Given the description of an element on the screen output the (x, y) to click on. 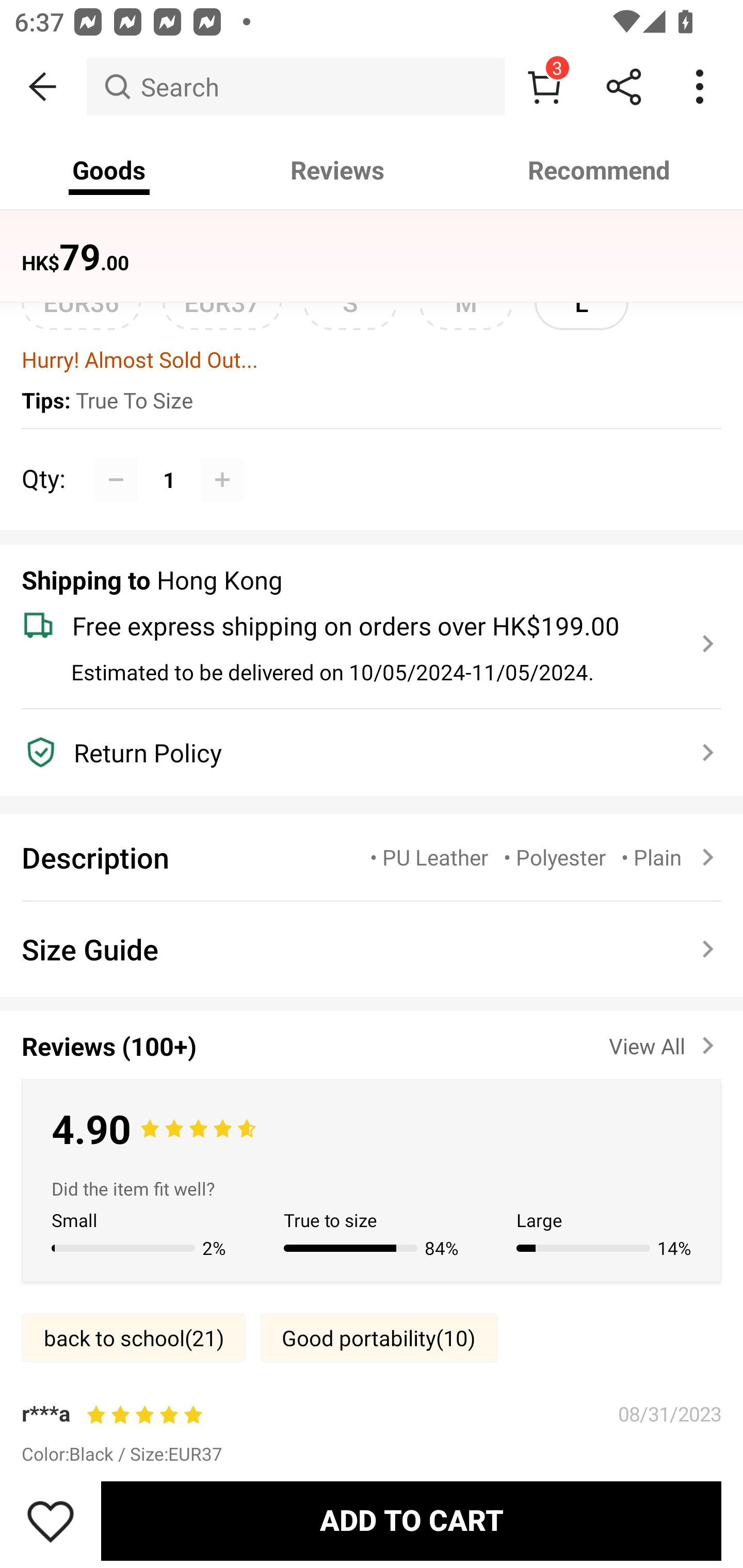
BACK (43, 86)
3 (543, 87)
Search (295, 87)
Goods (109, 170)
Reviews (337, 170)
Recommend (599, 170)
Hurry! Almost Sold Out... (371, 358)
Tips: True To Size (371, 400)
Qty: 1 (371, 457)
Return Policy (359, 752)
Size Guide (371, 949)
View All (664, 1041)
back to school(21) (133, 1337)
Good portability(10) (378, 1337)
ADD TO CART (411, 1520)
Save (50, 1520)
